Given the description of an element on the screen output the (x, y) to click on. 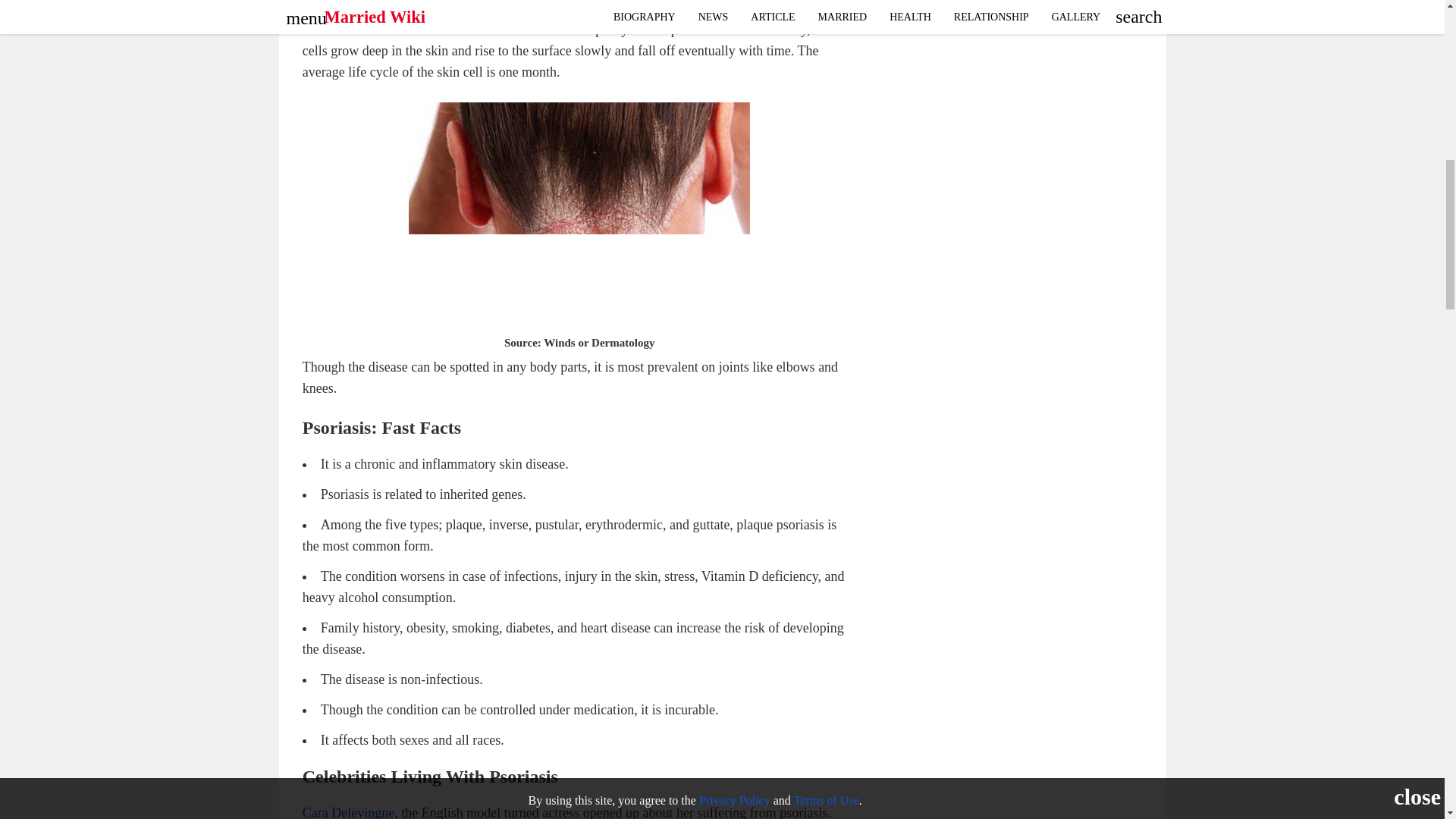
Cara Delevingne (348, 812)
chronic autoimmune condition (419, 29)
